Given the description of an element on the screen output the (x, y) to click on. 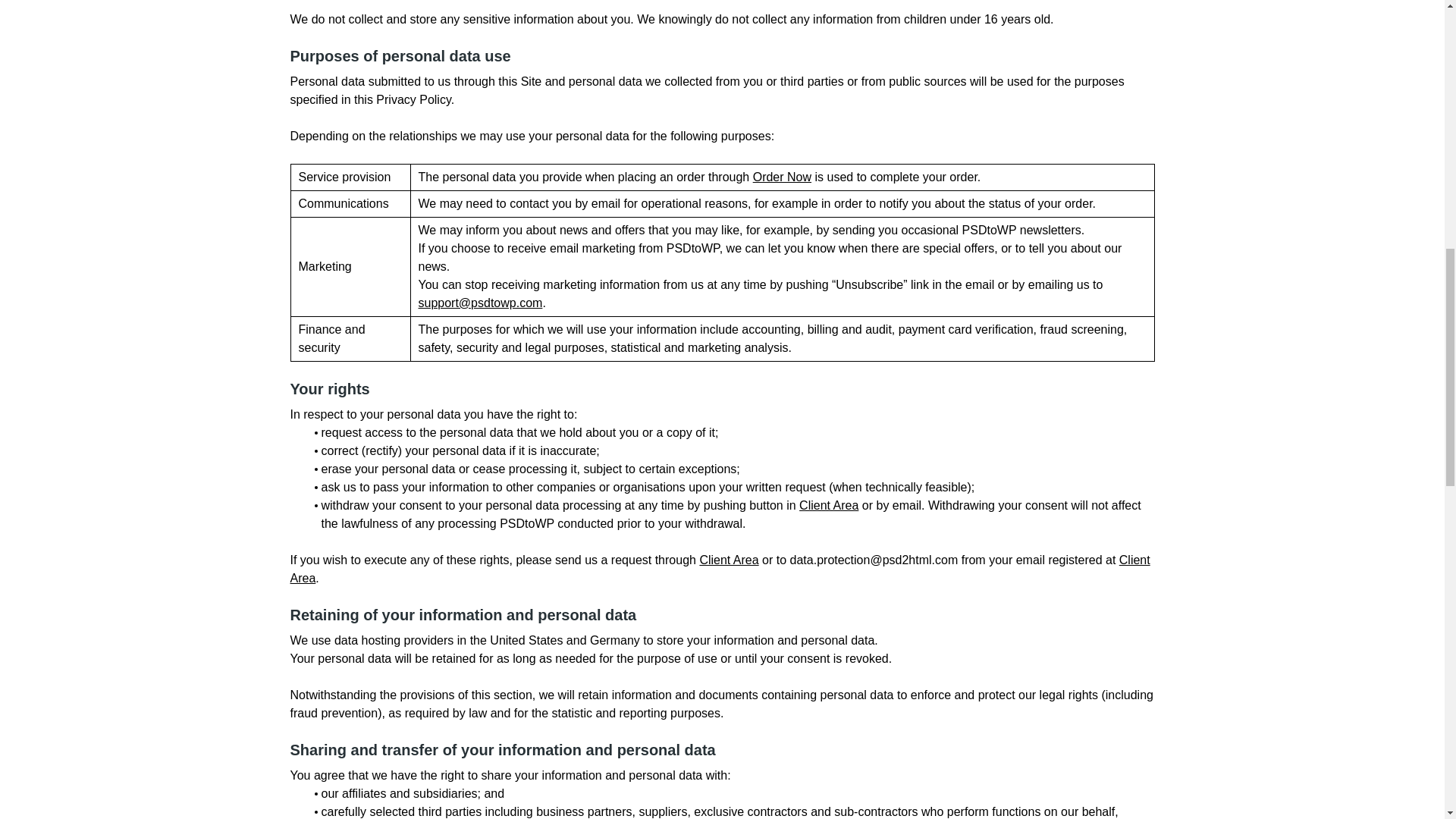
Order Now (781, 176)
Client Area (728, 559)
Client Area (719, 568)
Client Area (829, 504)
